Given the description of an element on the screen output the (x, y) to click on. 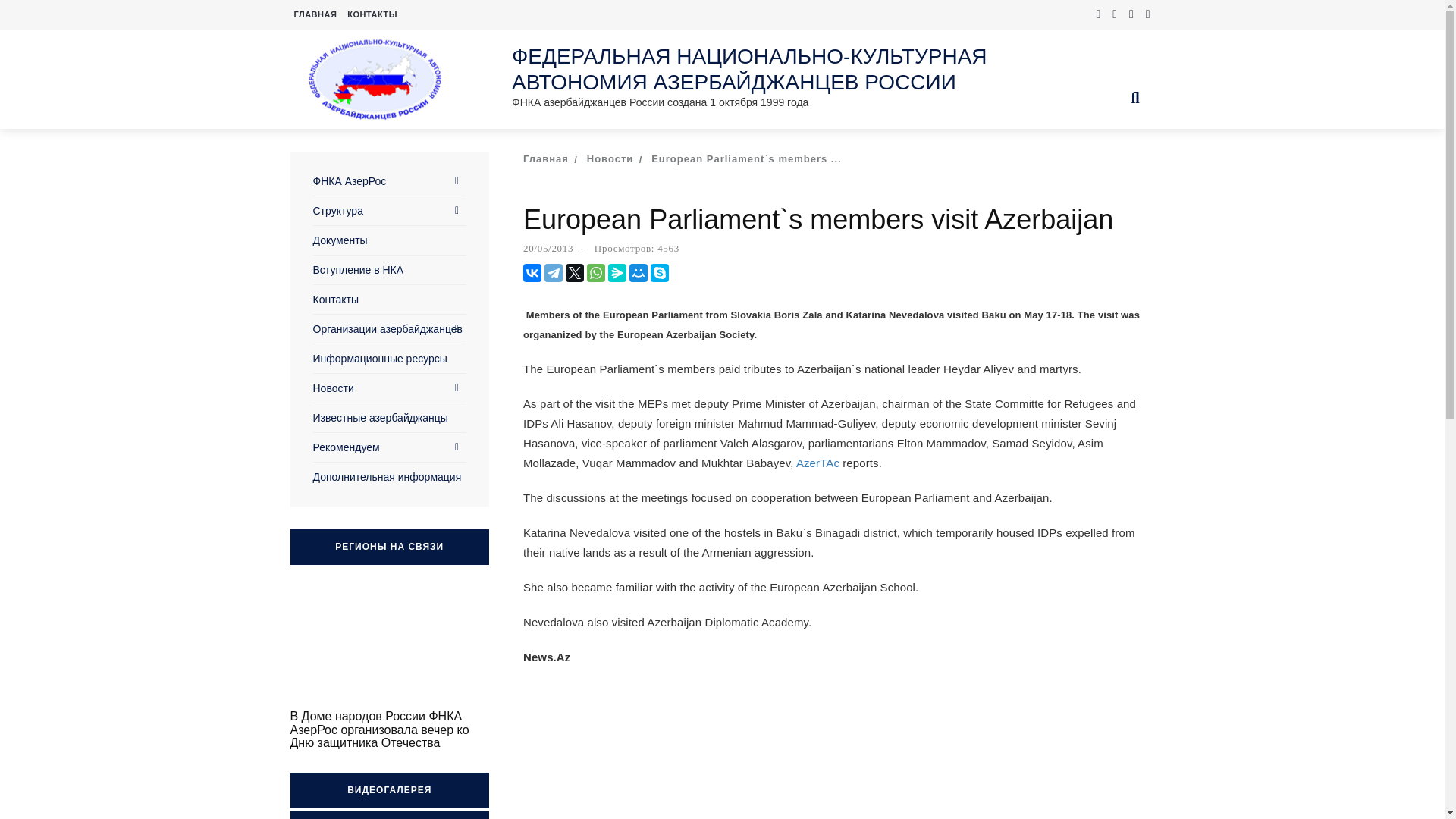
Twitter (574, 272)
YouTube video player (389, 646)
Skype (659, 272)
WhatsApp (595, 272)
Telegram (553, 272)
